Given the description of an element on the screen output the (x, y) to click on. 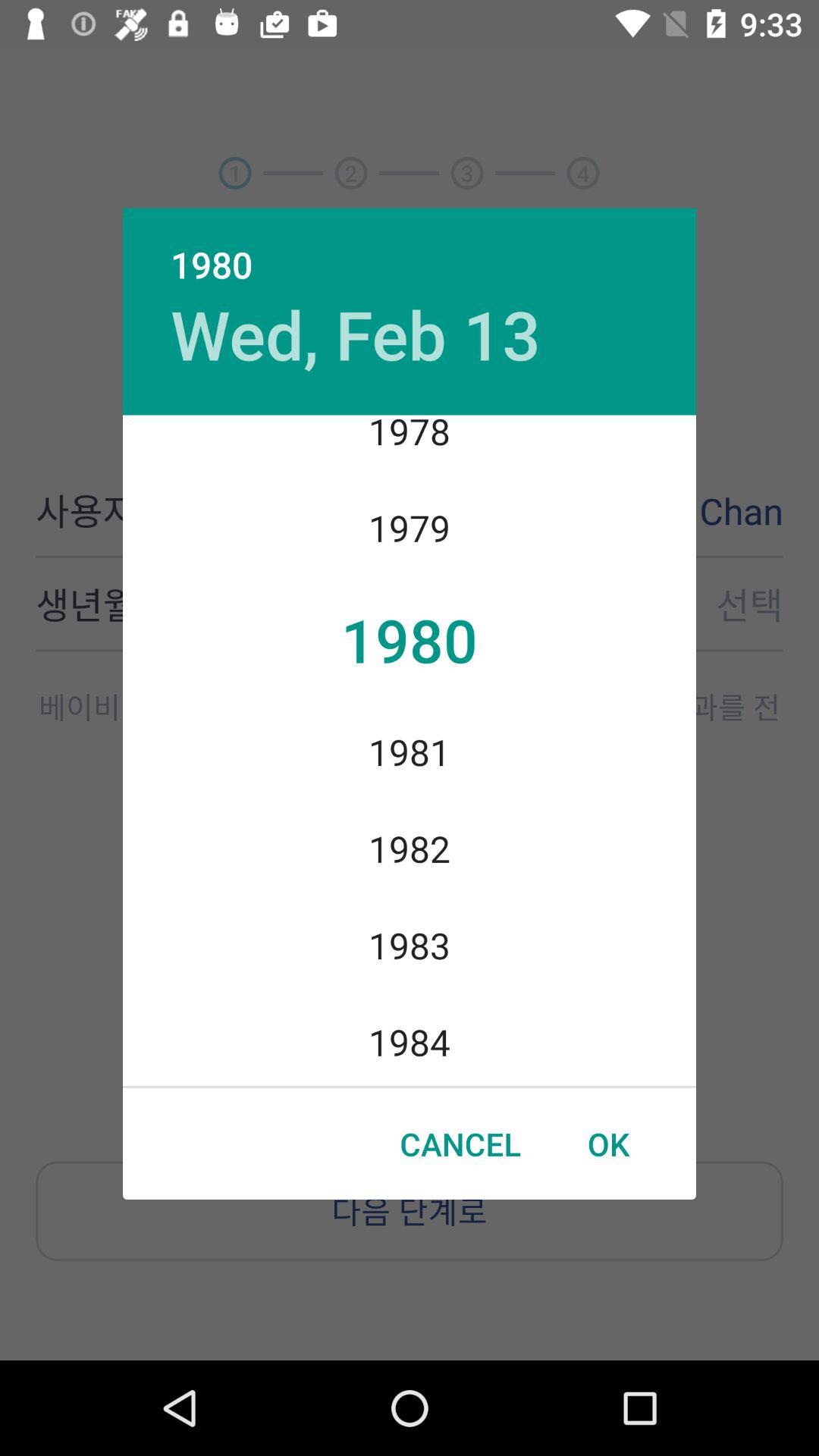
swipe to cancel icon (459, 1143)
